Given the description of an element on the screen output the (x, y) to click on. 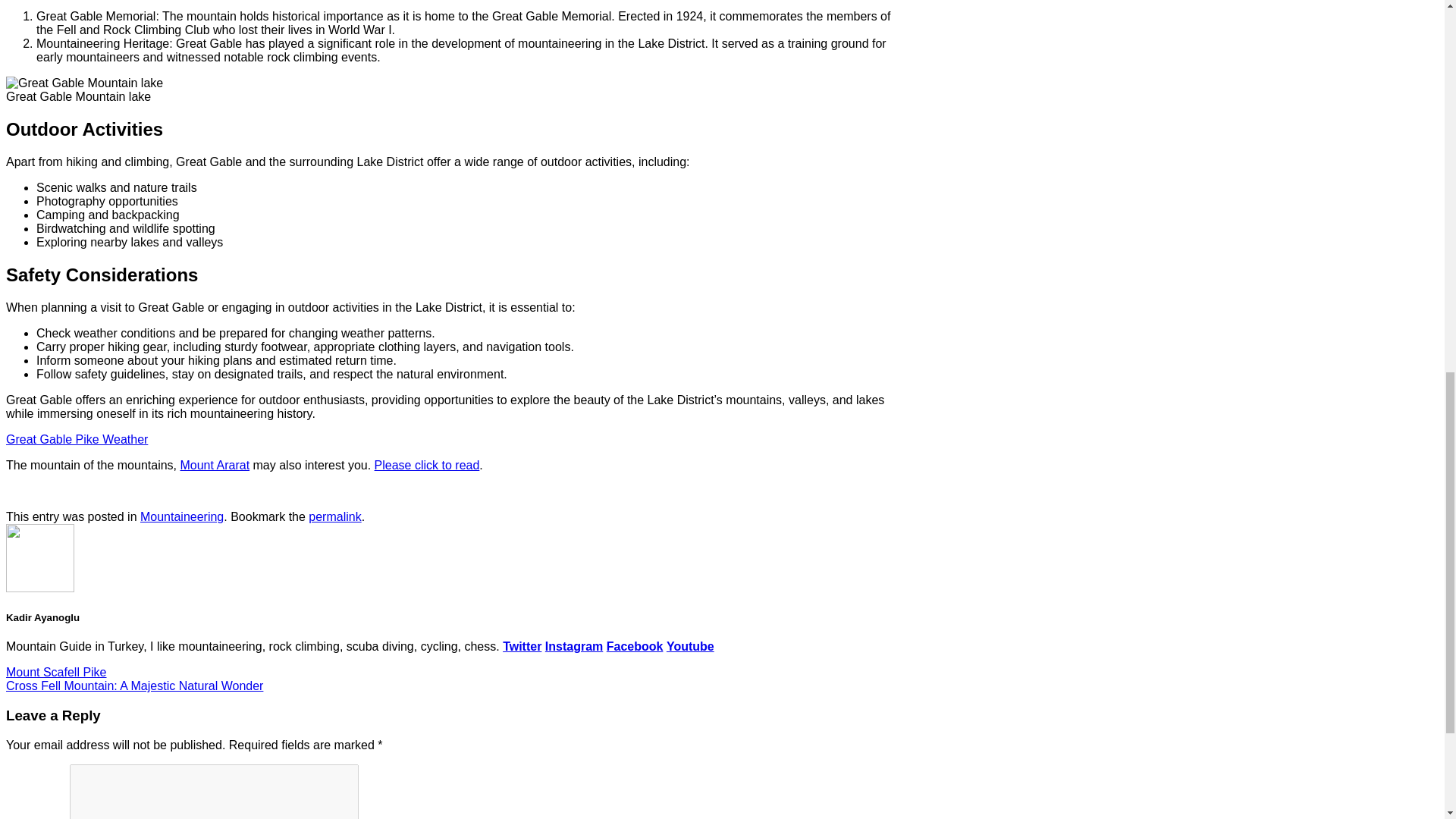
Mountaineering (181, 516)
Please click to read (427, 464)
Great Gable Pike Weather (76, 439)
Mount Ararat (213, 464)
